Given the description of an element on the screen output the (x, y) to click on. 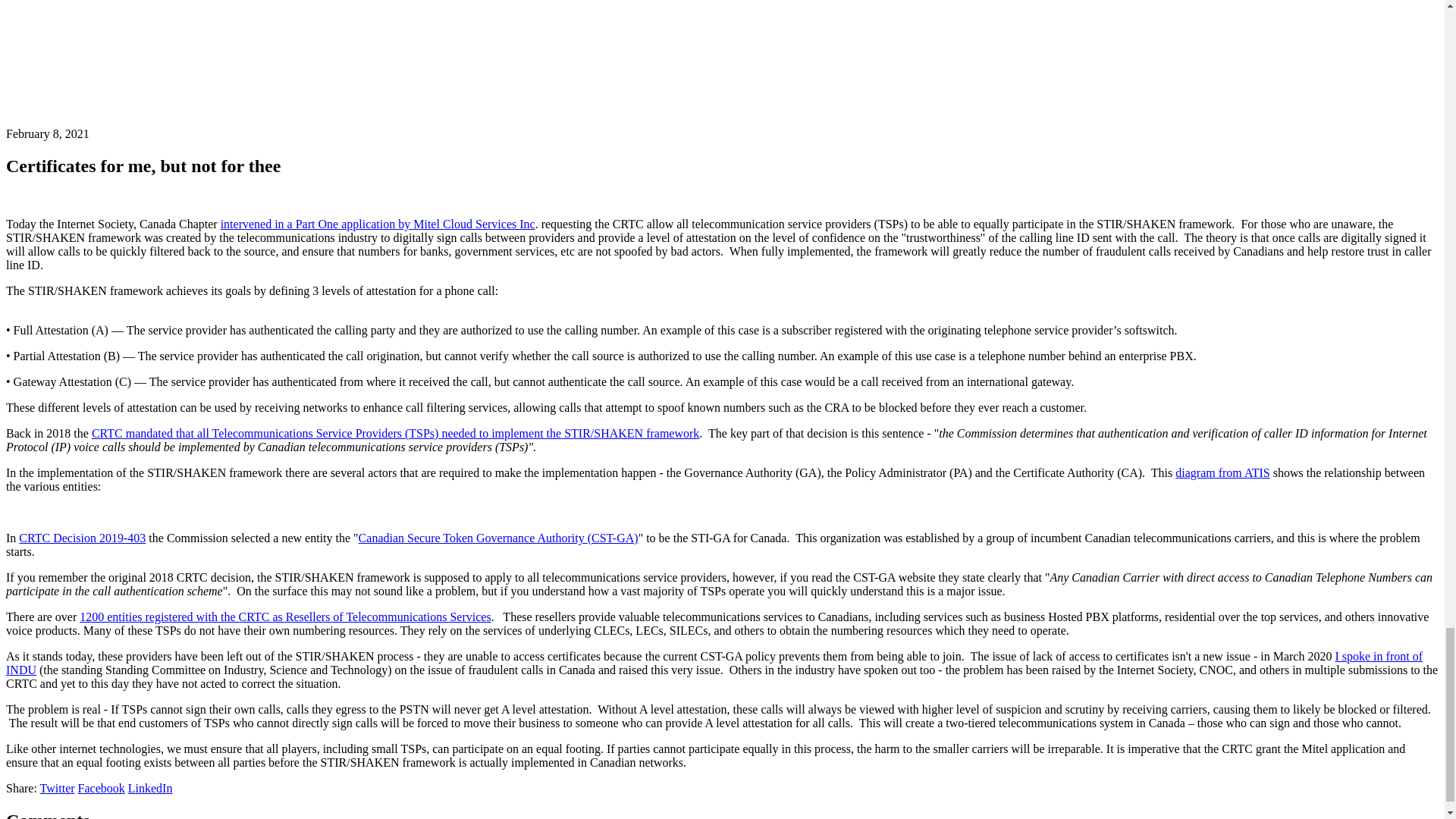
Twitter (57, 788)
diagram from ATIS (1221, 472)
CRTC Decision 2019-403 (81, 537)
I spoke in front of INDU (713, 663)
Facebook (101, 788)
LinkedIn (150, 788)
